Given the description of an element on the screen output the (x, y) to click on. 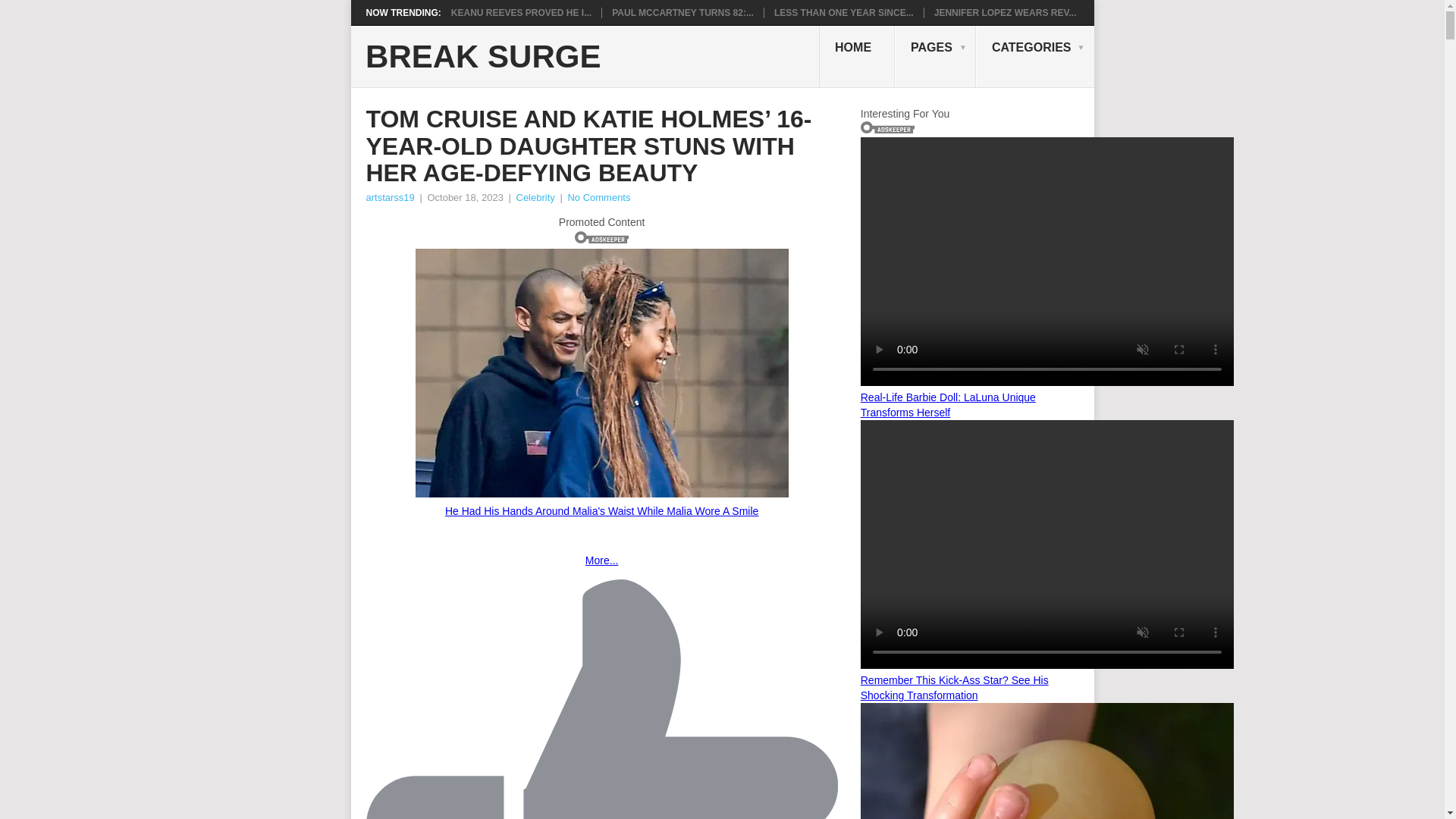
CATEGORIES (1034, 56)
artstarss19 (389, 197)
PAGES (935, 56)
LESS THAN ONE YEAR SINCE... (844, 12)
No Comments (598, 197)
HOME (856, 56)
BREAK SURGE (482, 56)
PAUL MCCARTNEY TURNS 82:... (682, 12)
Celebrity (534, 197)
KEANU REEVES PROVED HE I... (521, 12)
Posts by artstarss19 (389, 197)
JENNIFER LOPEZ WEARS REV... (1005, 12)
